Given the description of an element on the screen output the (x, y) to click on. 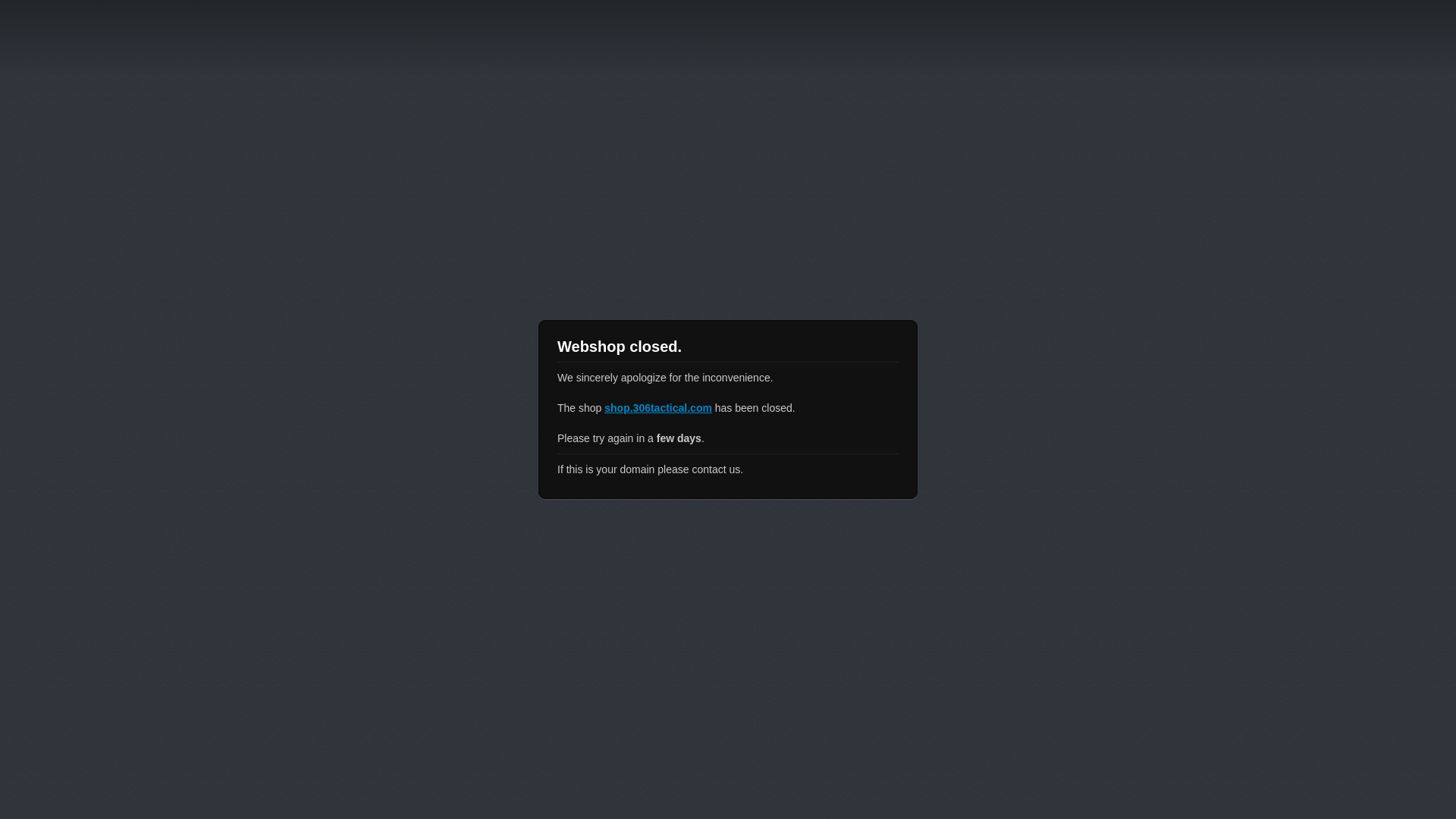
shop.306tactical.com Element type: text (658, 407)
